Given the description of an element on the screen output the (x, y) to click on. 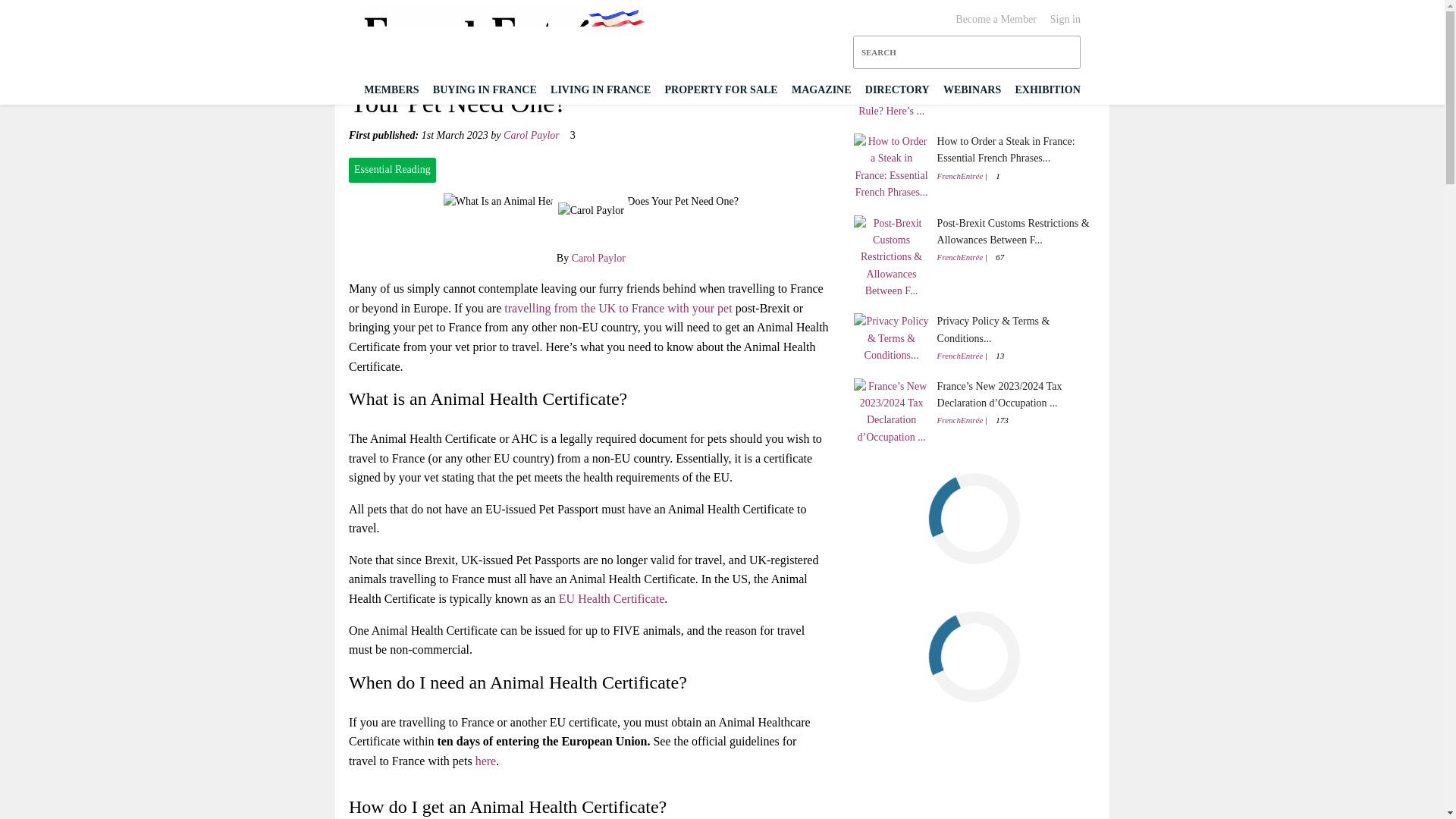
Become a Member (995, 19)
Sign in (1064, 19)
Carol Paylor (599, 257)
LIVING IN FRANCE (601, 88)
MEMBERS (391, 88)
BUYING IN FRANCE (484, 88)
